Given the description of an element on the screen output the (x, y) to click on. 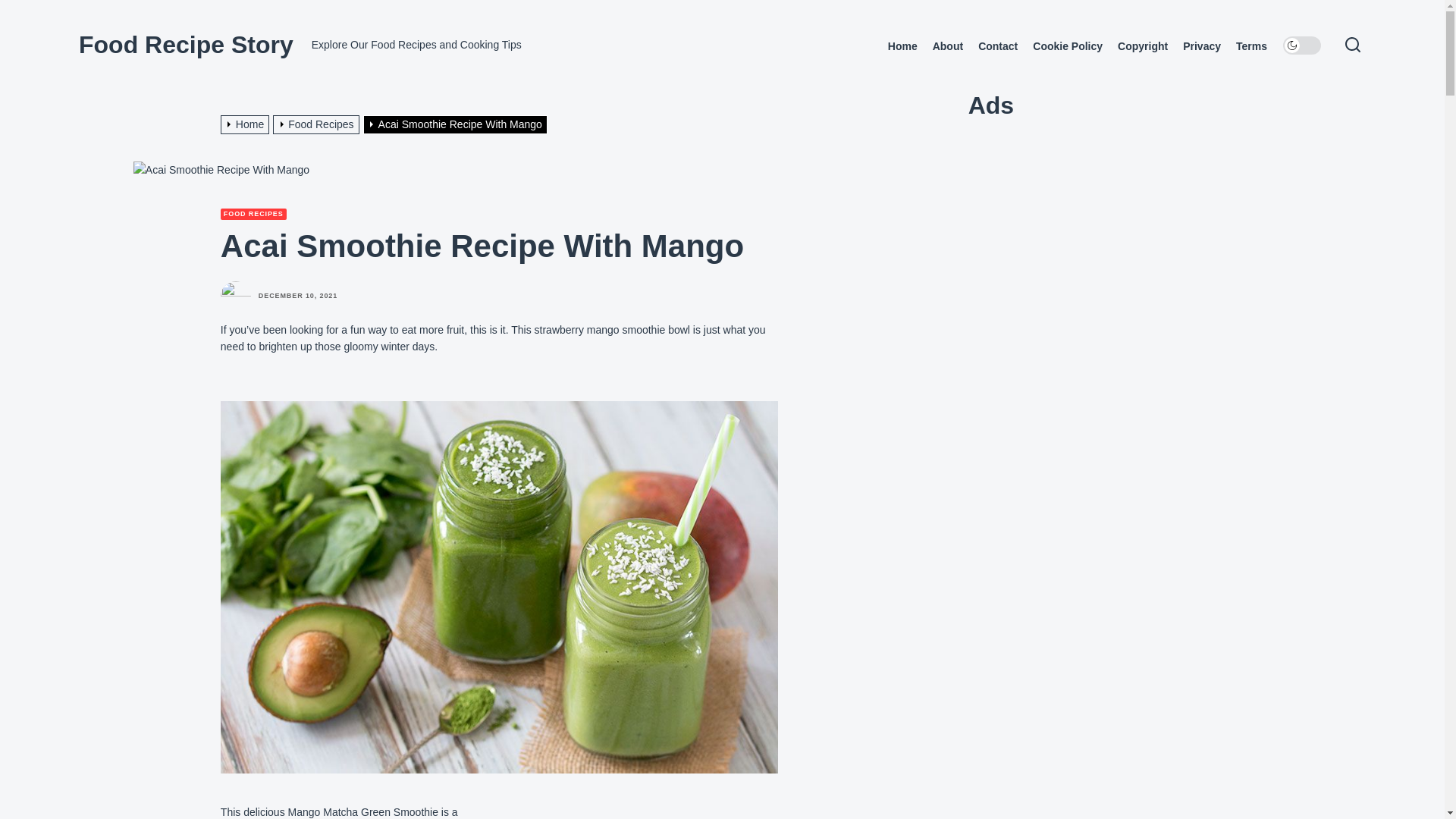
About (947, 46)
Acai Smoothie Recipe With Mango (220, 169)
Food Recipe Story (186, 44)
Food Recipes (317, 123)
Contact (997, 46)
Home (247, 123)
DECEMBER 10, 2021 (298, 295)
Home (902, 46)
Acai Smoothie Recipe With Mango (456, 123)
Terms (1251, 46)
